Given the description of an element on the screen output the (x, y) to click on. 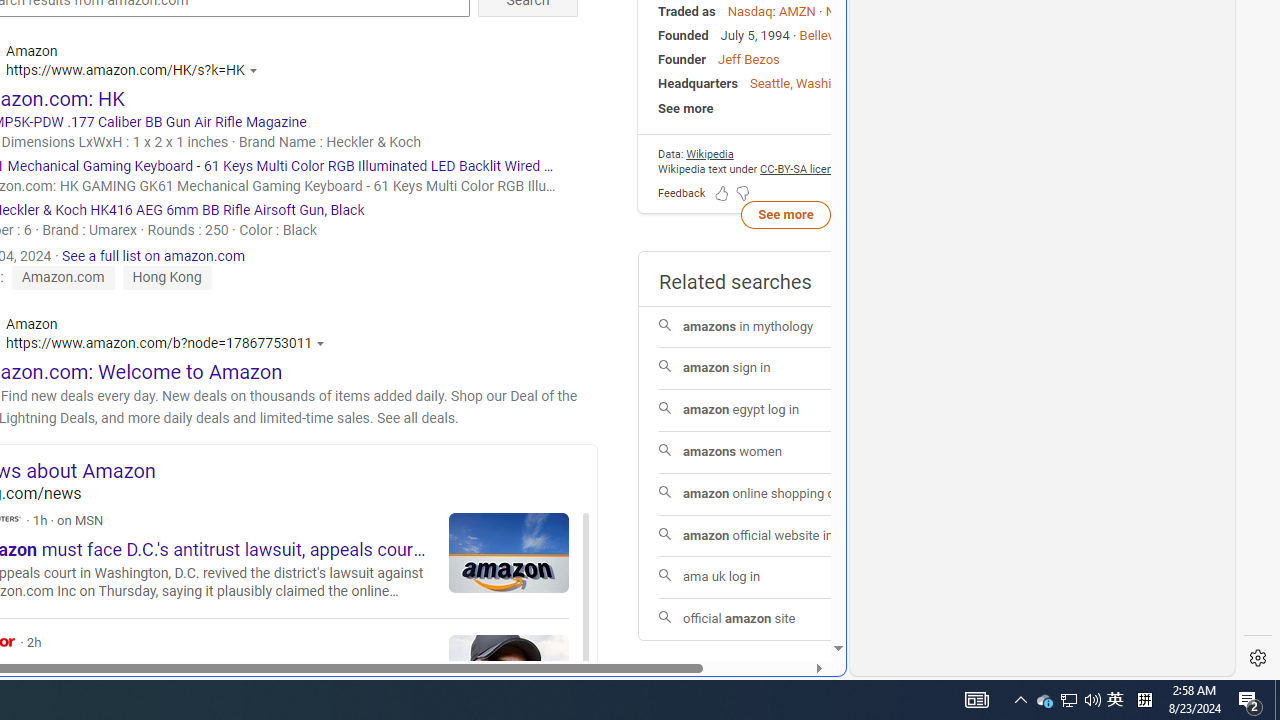
Search more (792, 588)
See a full list on amazon.com (153, 255)
amazons women (785, 452)
Feedback Like (721, 192)
See more (785, 213)
official amazon site (785, 619)
Jeff Bezos (748, 58)
ama uk log in (785, 578)
amazon official website india (785, 536)
